Given the description of an element on the screen output the (x, y) to click on. 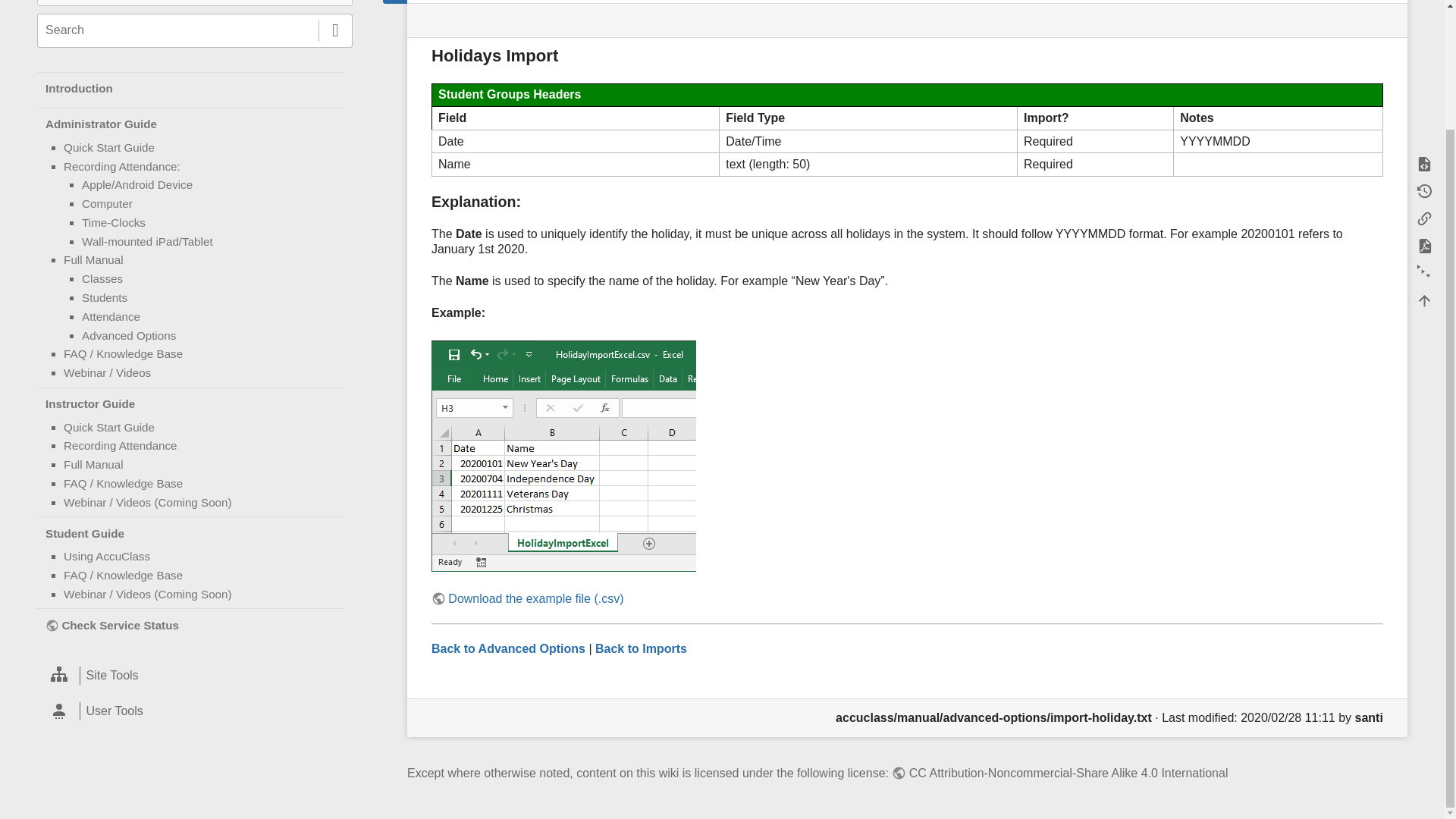
accuclass:recording-attendance (122, 165)
accuclass:recording-attendance:devices:timeclocks (113, 222)
accuclass:quickstart (109, 146)
Attendance (110, 316)
Time-Clocks (113, 222)
accuclass (195, 88)
Recording Attendance (120, 445)
Students (104, 297)
Classes (101, 278)
accuclass:admin (195, 124)
